Given the description of an element on the screen output the (x, y) to click on. 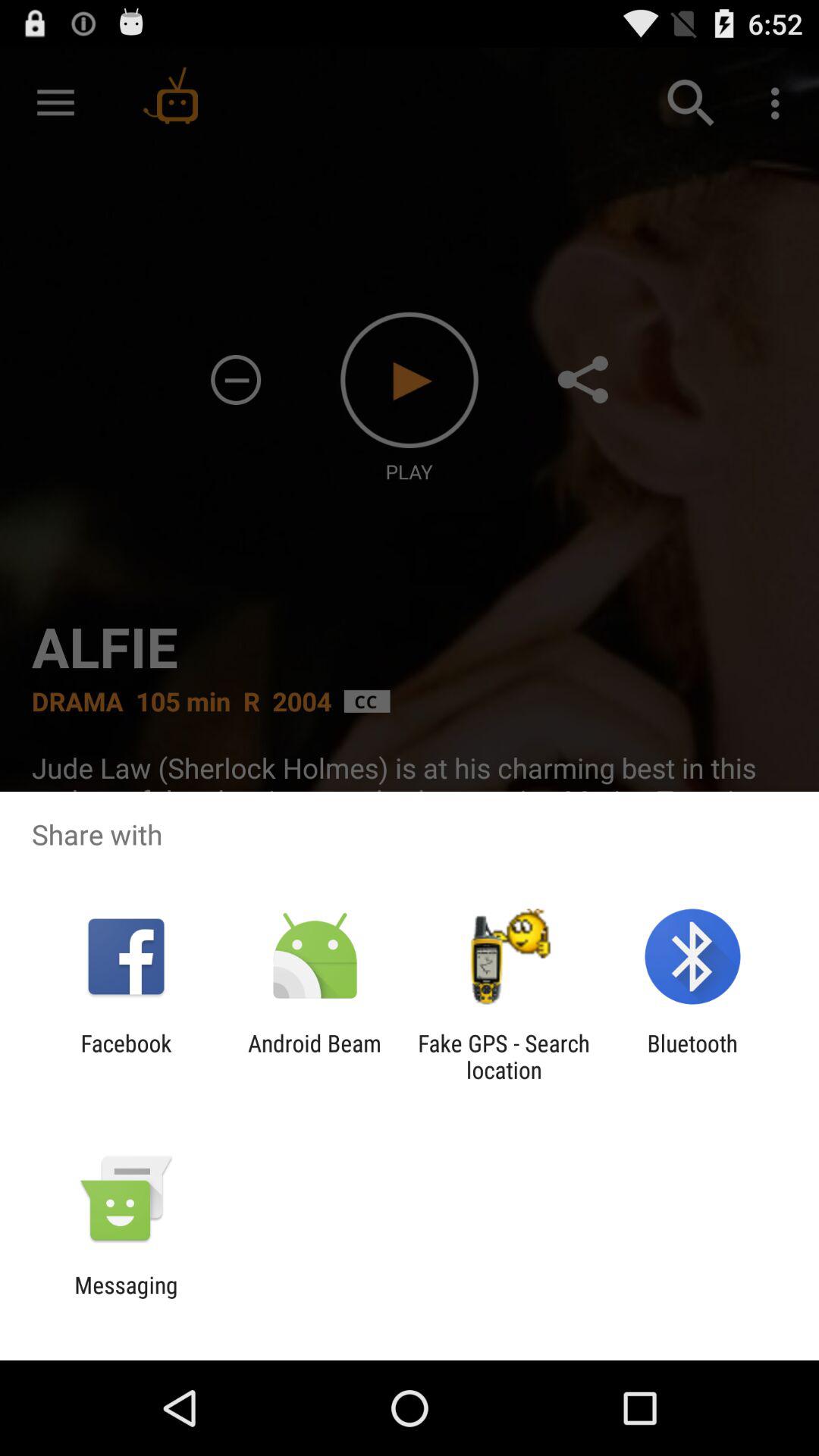
select android beam app (314, 1056)
